Given the description of an element on the screen output the (x, y) to click on. 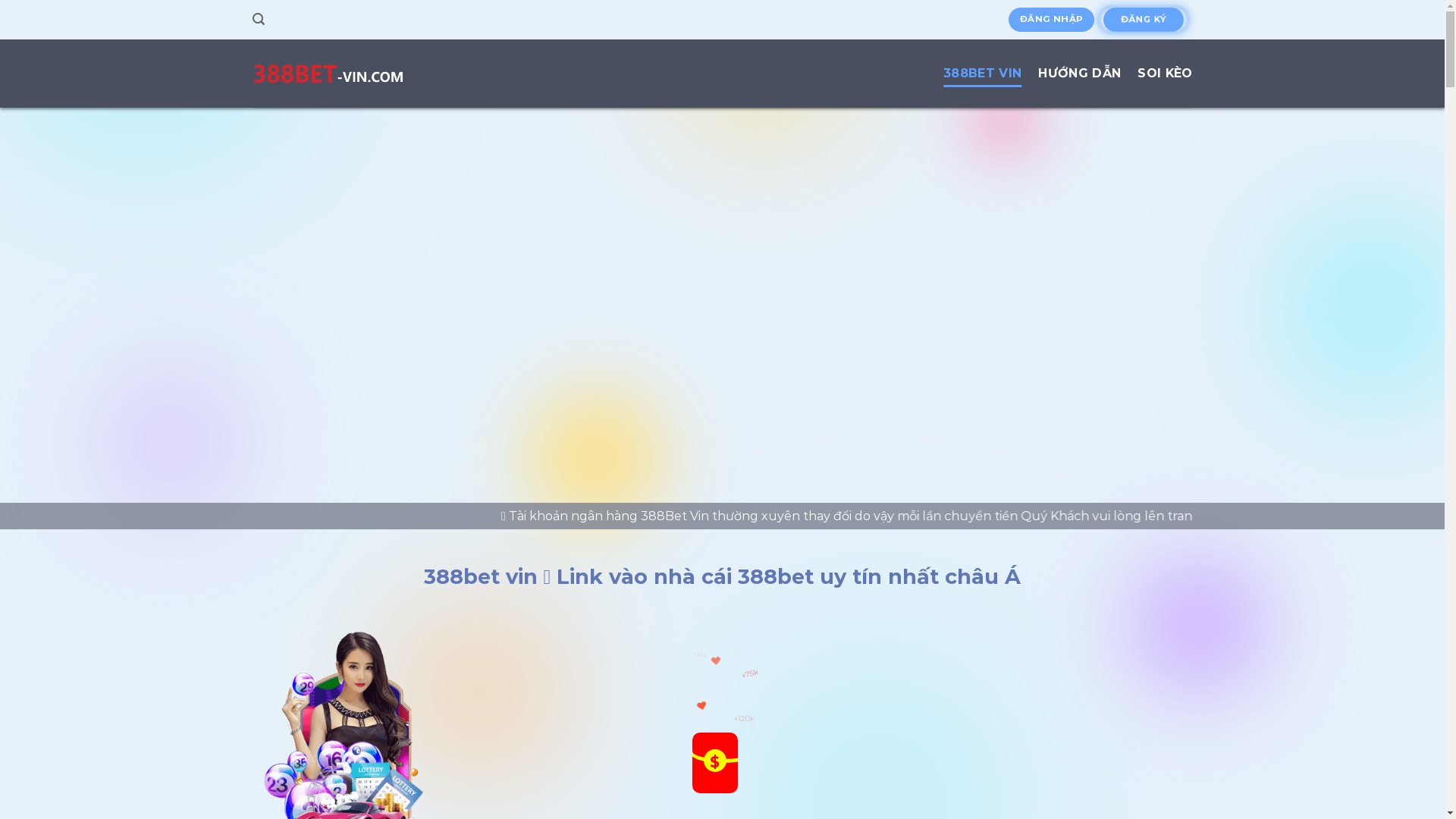
+100k
+50k
+120k
+1M
+75k
$ Element type: text (721, 746)
388BET VIN Element type: text (982, 73)
